Given the description of an element on the screen output the (x, y) to click on. 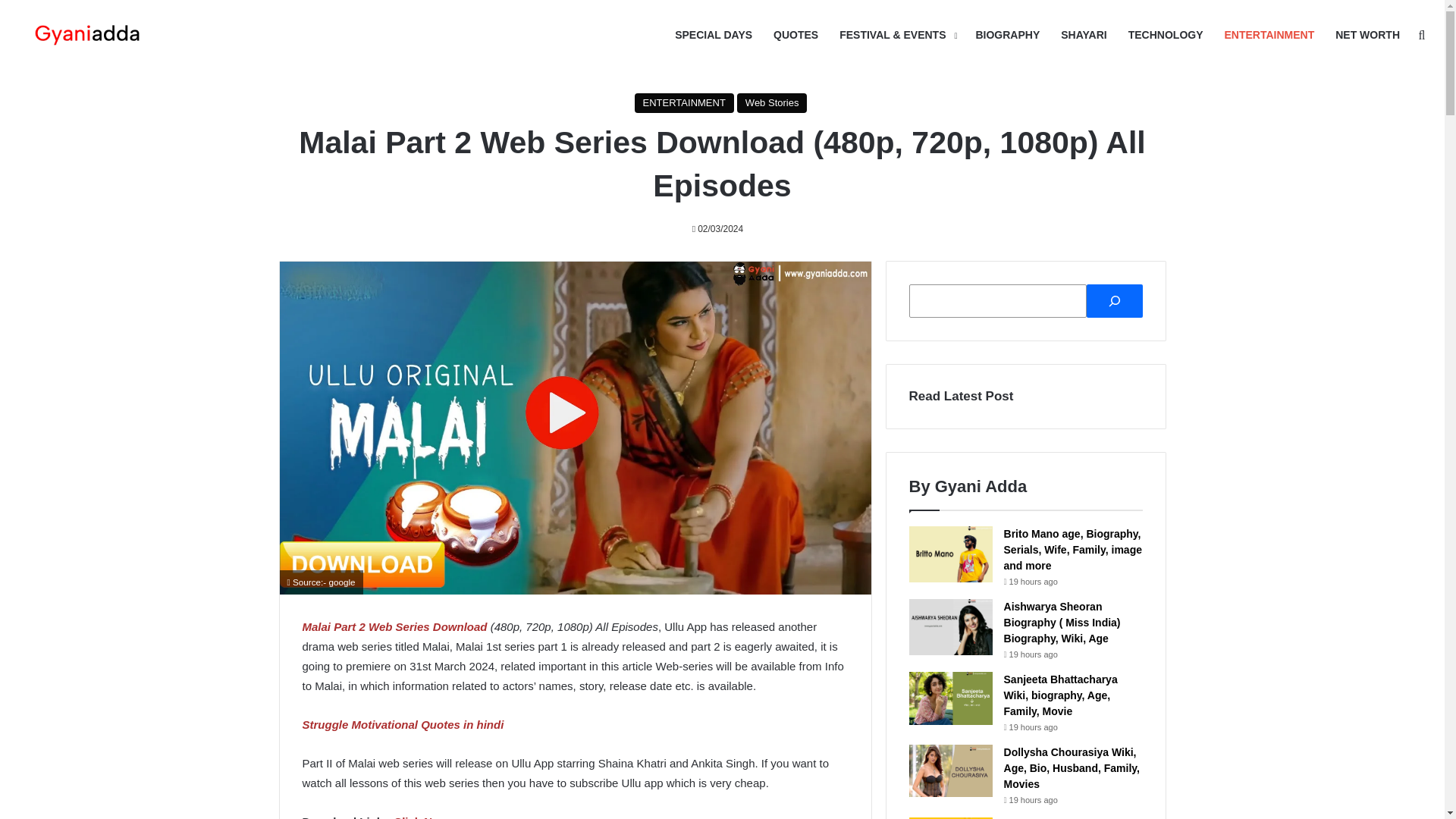
ENTERTAINMENT (683, 103)
SHAYARI (1082, 35)
TECHNOLOGY (1166, 35)
ENTERTAINMENT (1268, 35)
QUOTES (795, 35)
Malai Part 2 Web Series Download (393, 626)
Struggle Motivational Quotes in hindi (402, 724)
NET WORTH (1367, 35)
Gyani Adda (87, 35)
SPECIAL DAYS (712, 35)
Click Now (420, 816)
BIOGRAPHY (1006, 35)
Web Stories (772, 103)
